Given the description of an element on the screen output the (x, y) to click on. 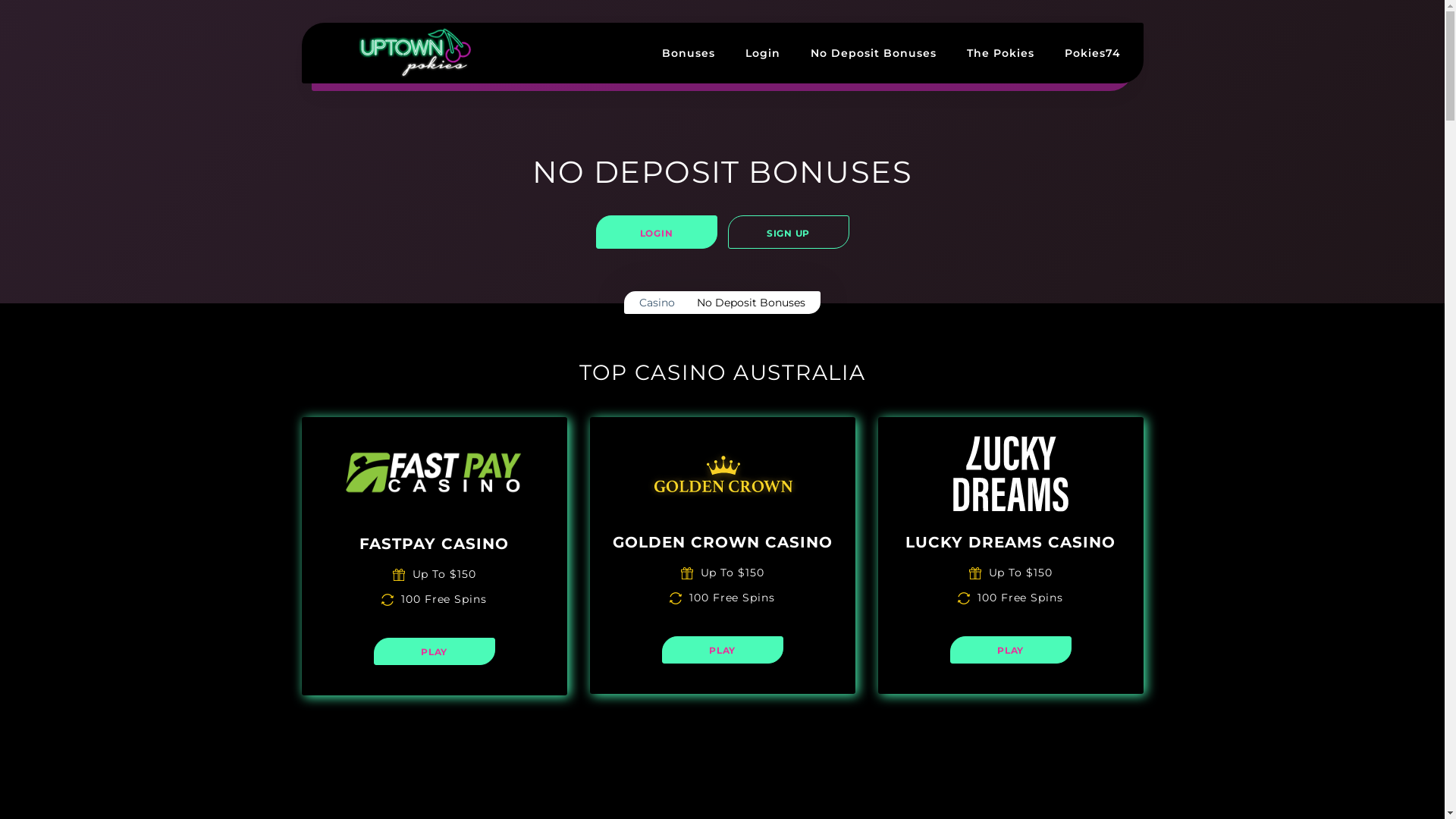
PLAY Element type: text (1009, 649)
Pokies74 Element type: text (1092, 52)
PLAY Element type: text (433, 651)
No Deposit Bonuses Element type: text (872, 52)
Login Element type: text (761, 52)
Bonuses Element type: text (687, 52)
LOGIN Element type: text (656, 231)
SIGN UP Element type: text (788, 231)
Casino Element type: text (656, 302)
PLAY Element type: text (721, 649)
The Pokies Element type: text (999, 52)
